Given the description of an element on the screen output the (x, y) to click on. 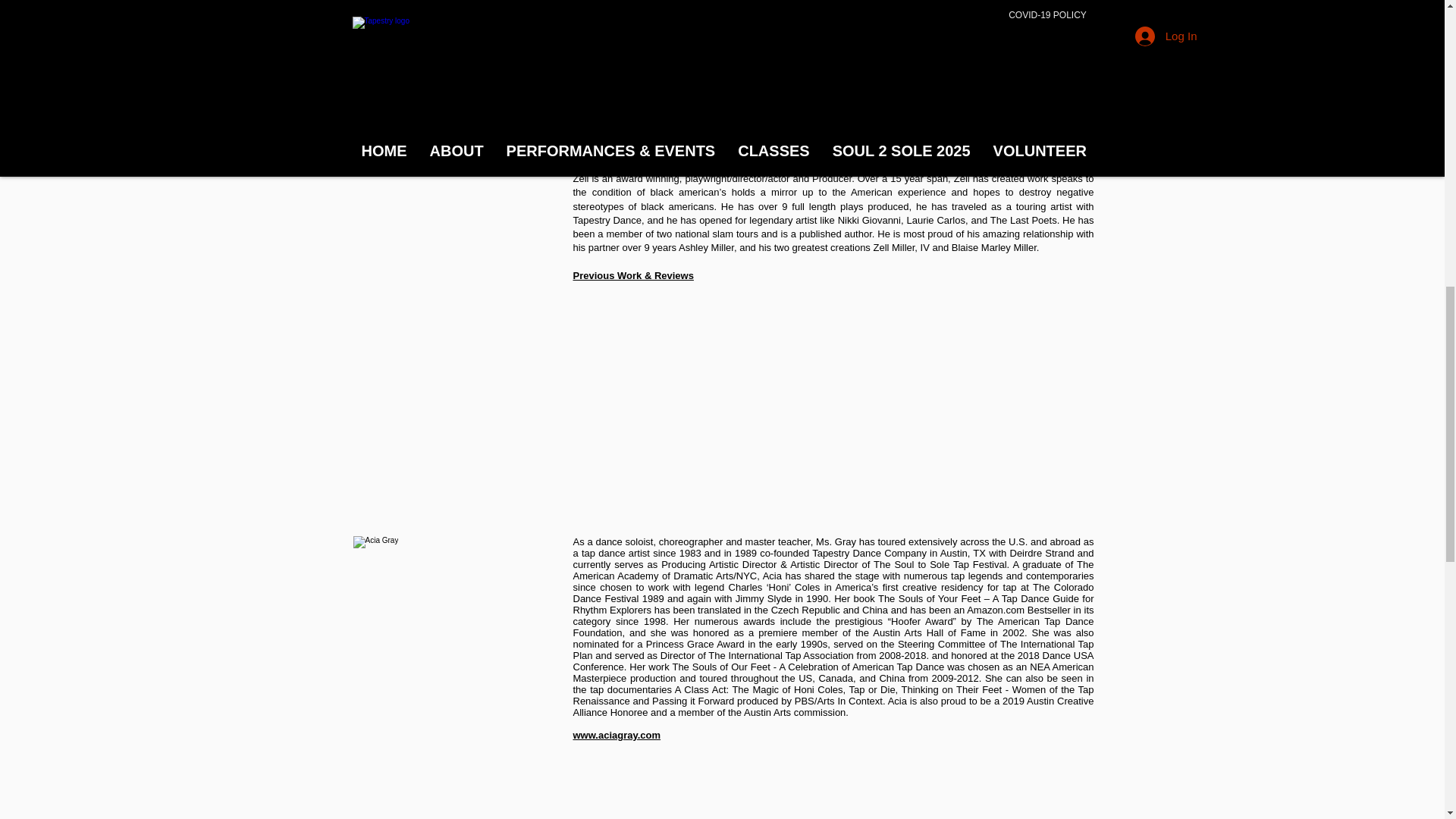
www.aciagray.com (617, 735)
